Given the description of an element on the screen output the (x, y) to click on. 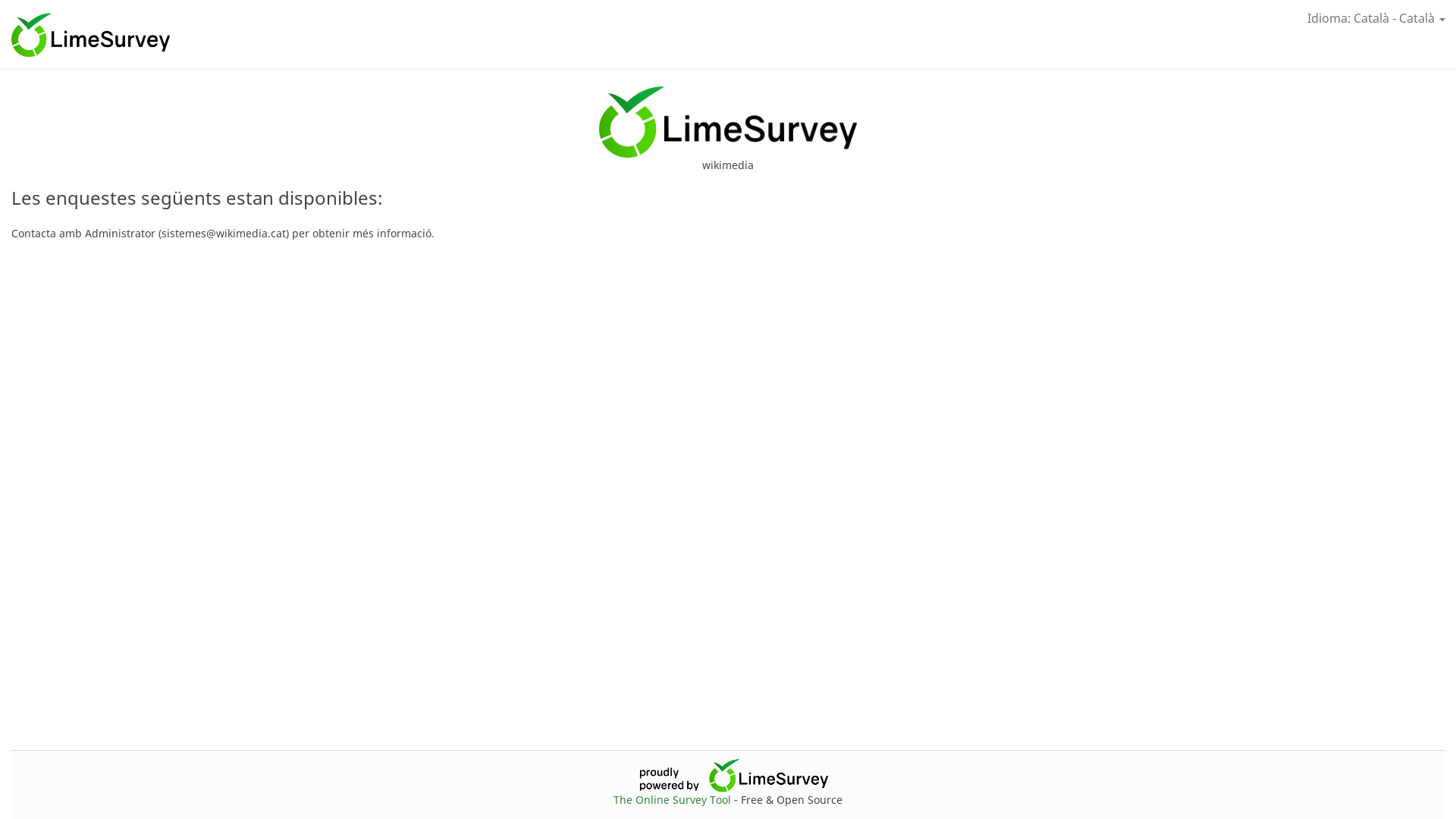
The Online Survey Tool Element type: text (673, 799)
